Given the description of an element on the screen output the (x, y) to click on. 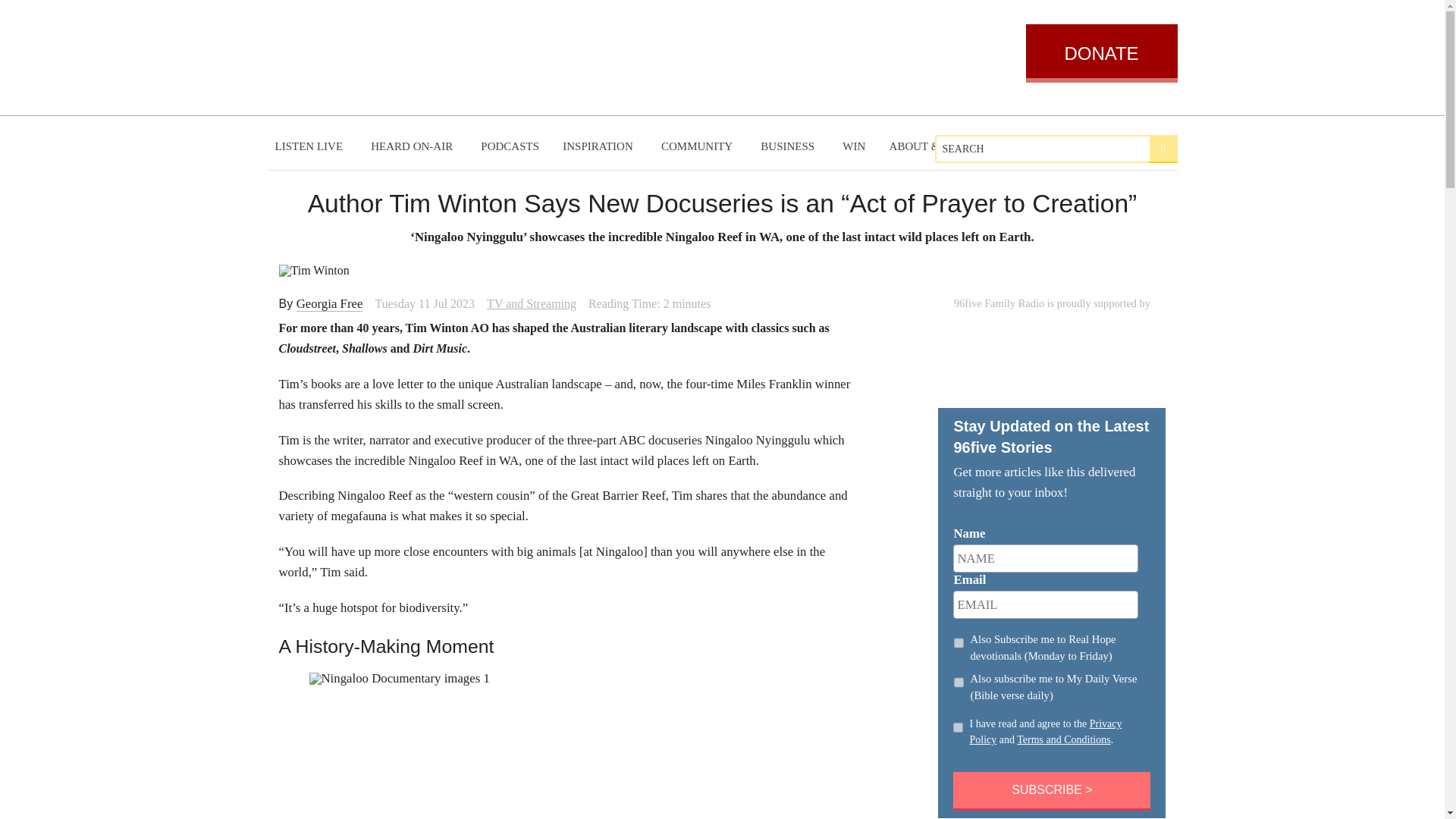
BUSINESS (789, 146)
HEARD ON-AIR (413, 146)
LISTEN LIVE (310, 146)
INSPIRATION (599, 146)
DONATE (1100, 53)
COMMUNITY (698, 146)
PODCASTS (510, 146)
